Given the description of an element on the screen output the (x, y) to click on. 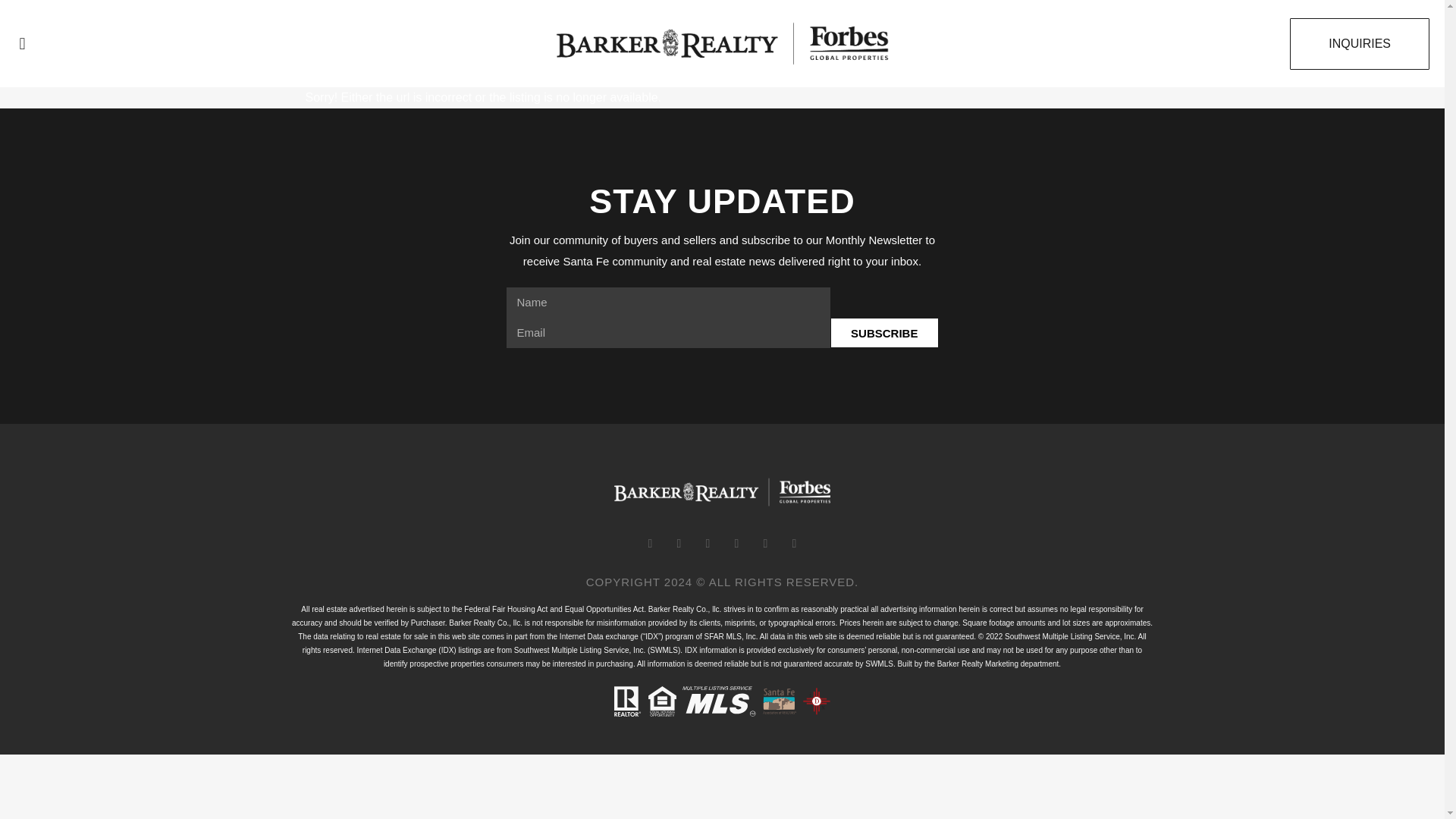
INQUIRIES (1359, 43)
SUBSCRIBE (884, 332)
